Given the description of an element on the screen output the (x, y) to click on. 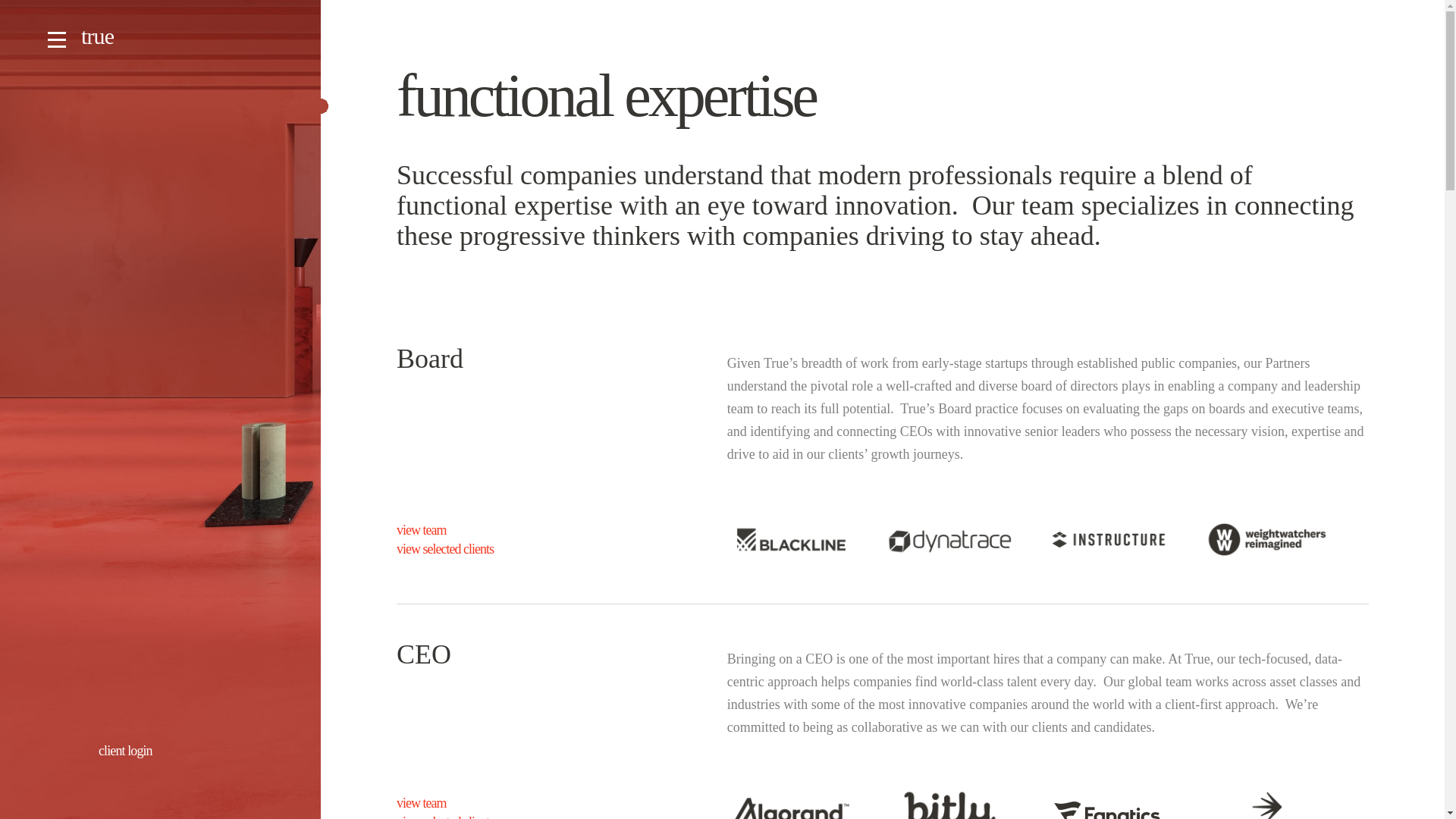
view selected clients (517, 549)
view selected clients (517, 816)
view team (517, 803)
view team (517, 530)
